Given the description of an element on the screen output the (x, y) to click on. 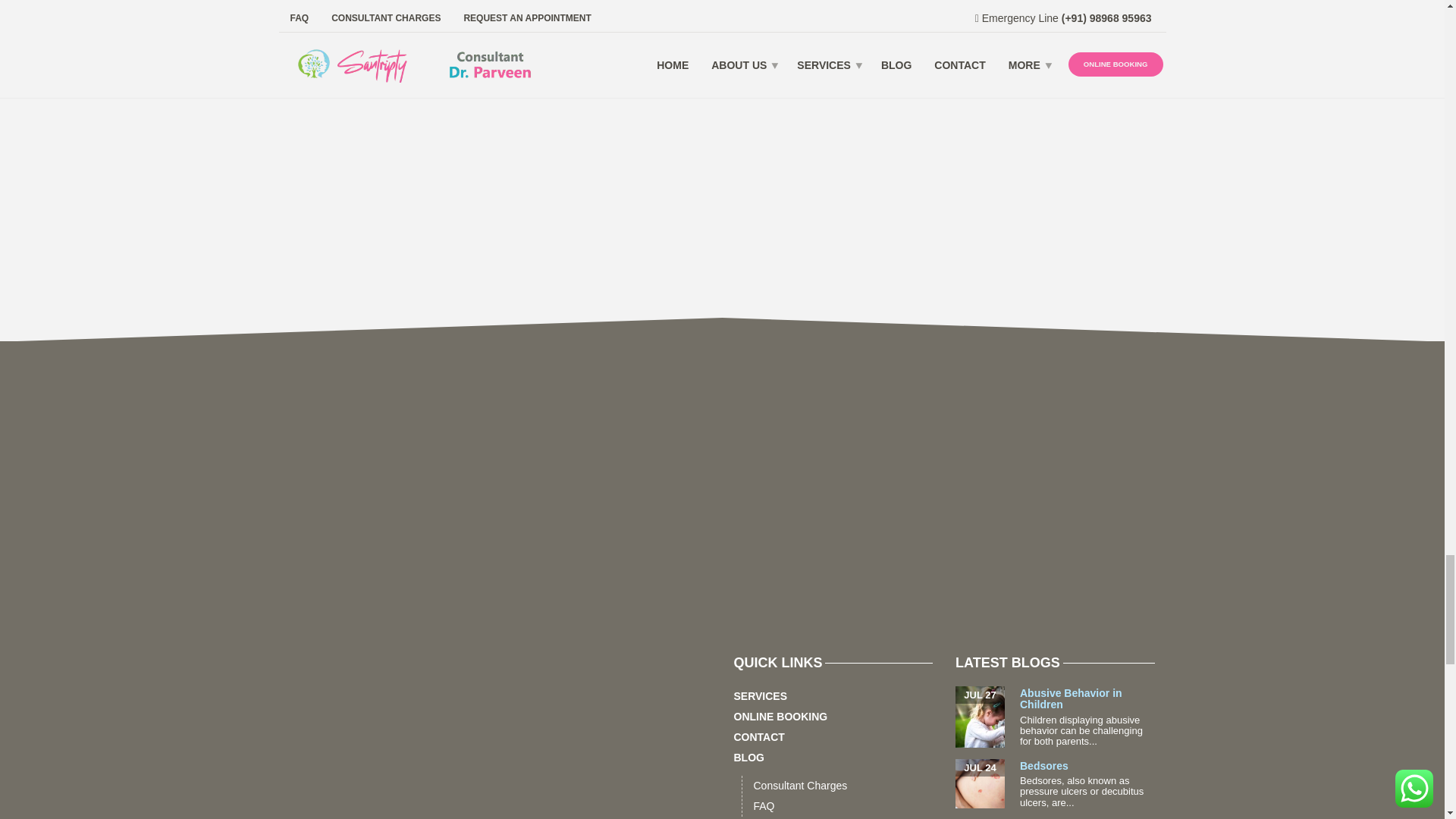
logged in (379, 2)
